Given the description of an element on the screen output the (x, y) to click on. 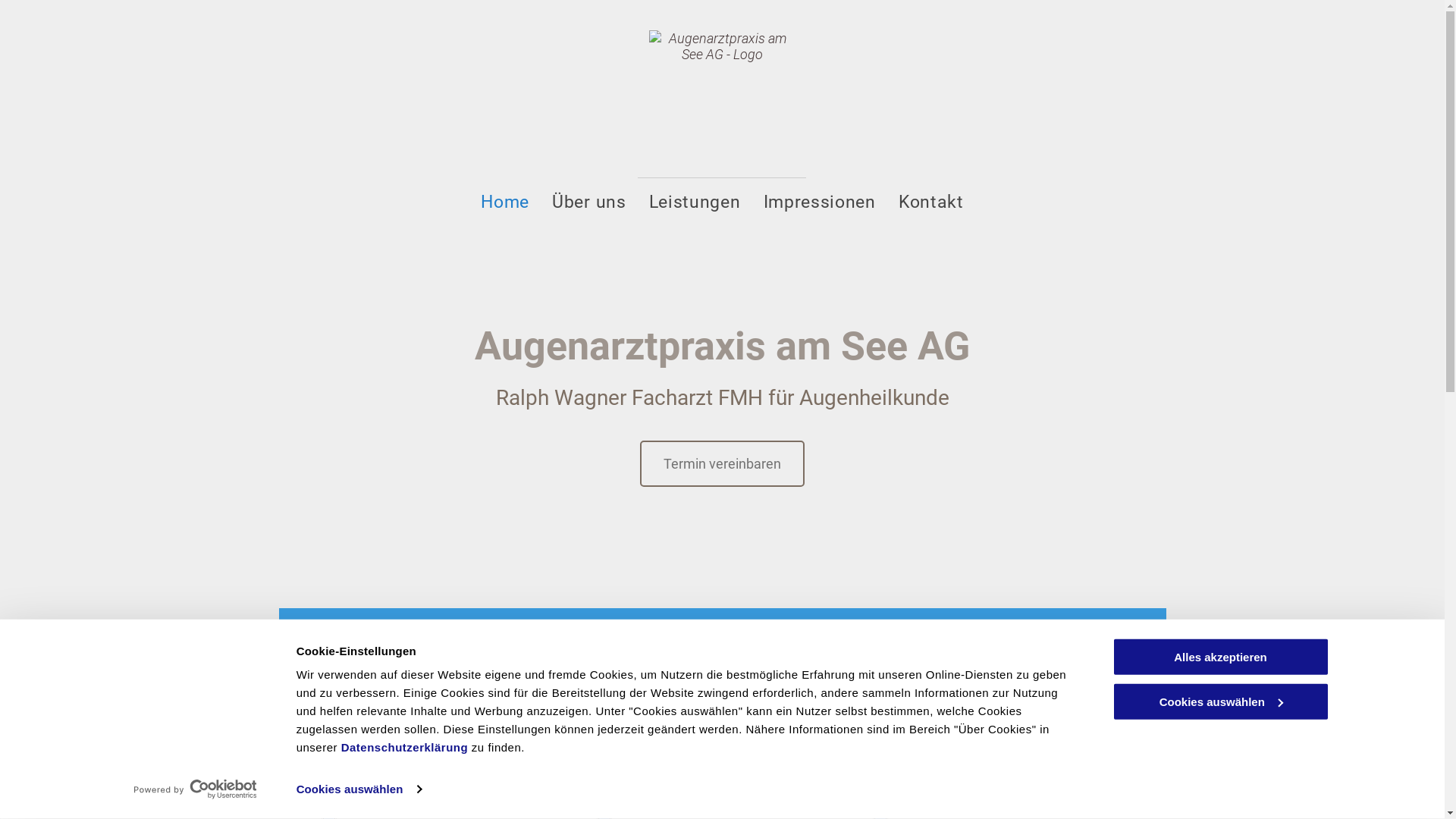
Kontakt Element type: text (931, 201)
Home Element type: text (504, 201)
Alles akzeptieren Element type: text (1219, 656)
Termin vereinbaren Element type: text (722, 463)
Leistungen Element type: text (694, 201)
Impressionen Element type: text (819, 201)
